Given the description of an element on the screen output the (x, y) to click on. 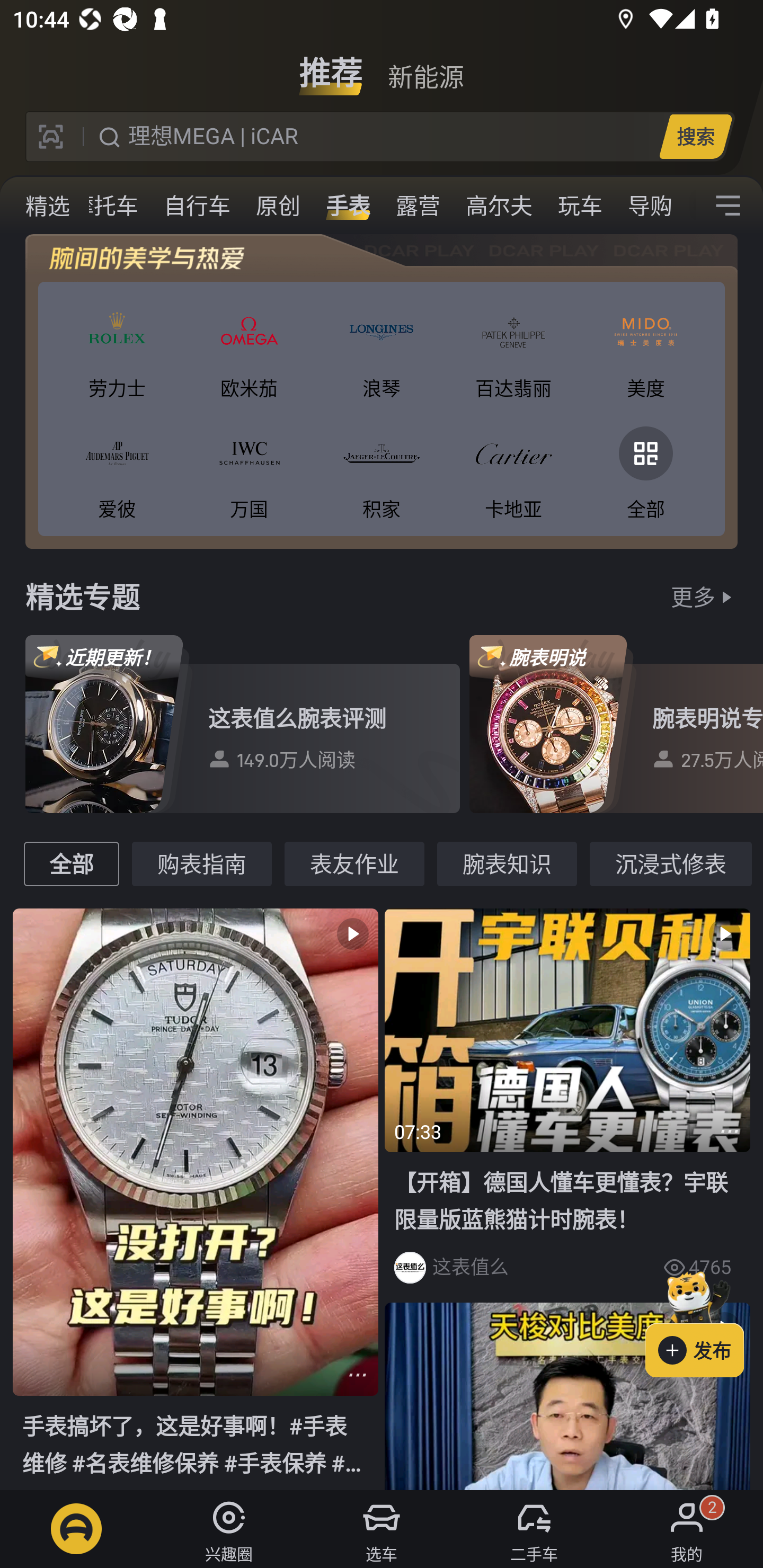
推荐 (330, 65)
新能源 (425, 65)
搜索 (695, 136)
新车 (29, 205)
摩托车 (104, 205)
自行车 (197, 205)
原创 (277, 205)
手表 (347, 205)
露营 (418, 205)
高尔夫 (499, 205)
玩车 (579, 205)
导购 (649, 205)
 (727, 205)
劳力士 (117, 348)
欧米茄 (249, 348)
浪琴 (381, 348)
百达翡丽 (513, 348)
美度 (645, 348)
爱彼 (117, 469)
万国 (249, 469)
积家 (381, 469)
卡地亚 (513, 469)
全部 (645, 469)
更多  (703, 596)
近期更新！ 这表值么腕表评测  149.0万人阅读 (242, 724)
腕表明说 腕表明说专业评测  27.5万人阅读 (616, 724)
全部 (71, 863)
购表指南 (201, 863)
表友作业 (354, 863)
腕表知识 (506, 863)
沉浸式修表 (670, 863)
  手表搞坏了，这是好事啊！#手表维修 #名表维修保养 #手表保养 #帝舵手表 #修表 (195, 1198)
 07:33  【开箱】德国人懂车更懂表？宇联限量版蓝熊猫计时腕表！ 这表值么 < >4765 (567, 1101)
 (729, 1132)
发布 (704, 1320)
 (567, 1396)
 (357, 1375)
 兴趣圈 (228, 1528)
 选车 (381, 1528)
 二手车 (533, 1528)
 我的 (686, 1528)
